Given the description of an element on the screen output the (x, y) to click on. 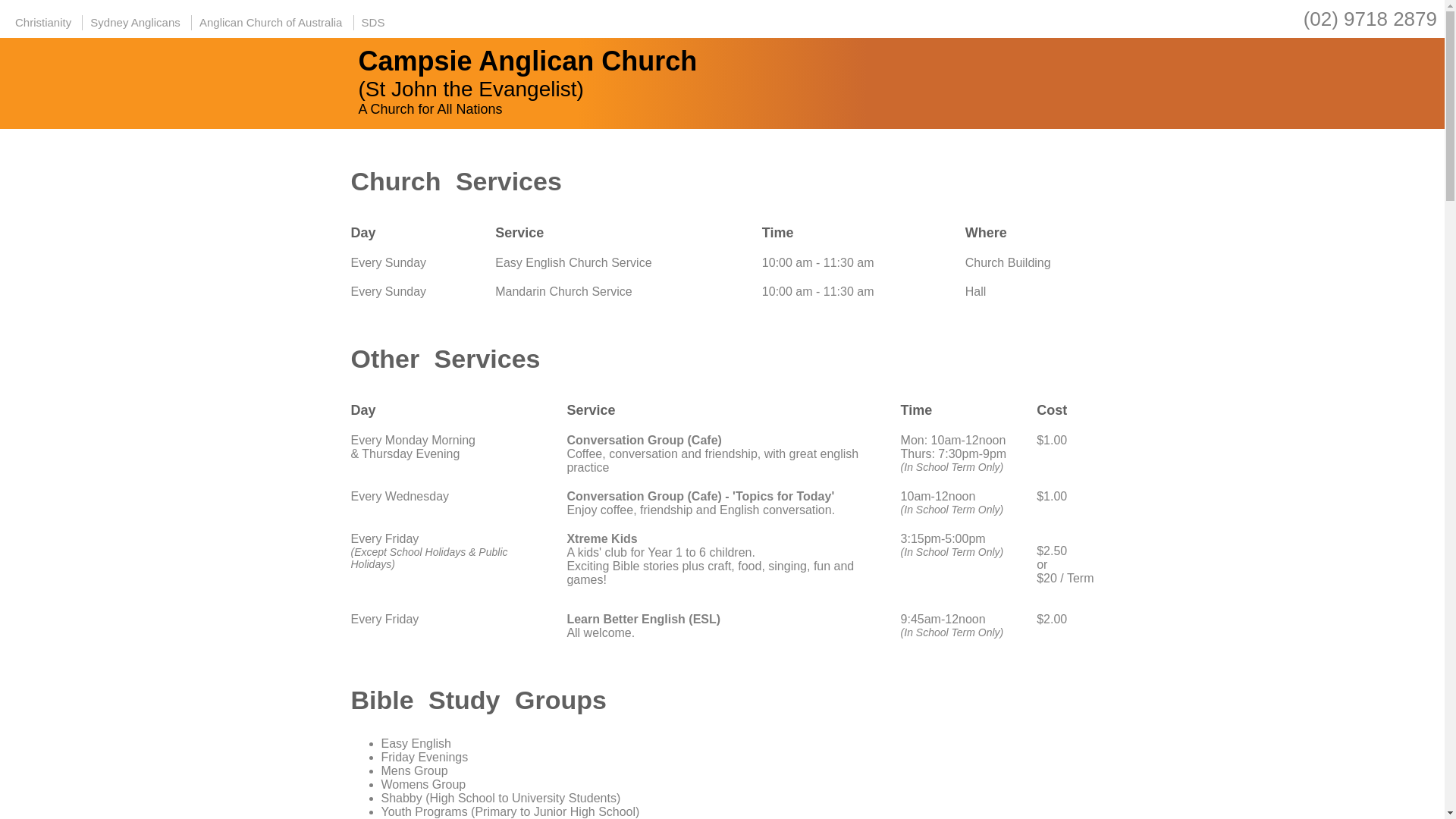
Anglican Church of Australia Element type: text (270, 21)
Sydney Anglicans Element type: text (134, 21)
SDS Element type: text (373, 21)
Christianity Element type: text (43, 21)
(02) 9718 2879 Element type: text (1370, 18)
